Given the description of an element on the screen output the (x, y) to click on. 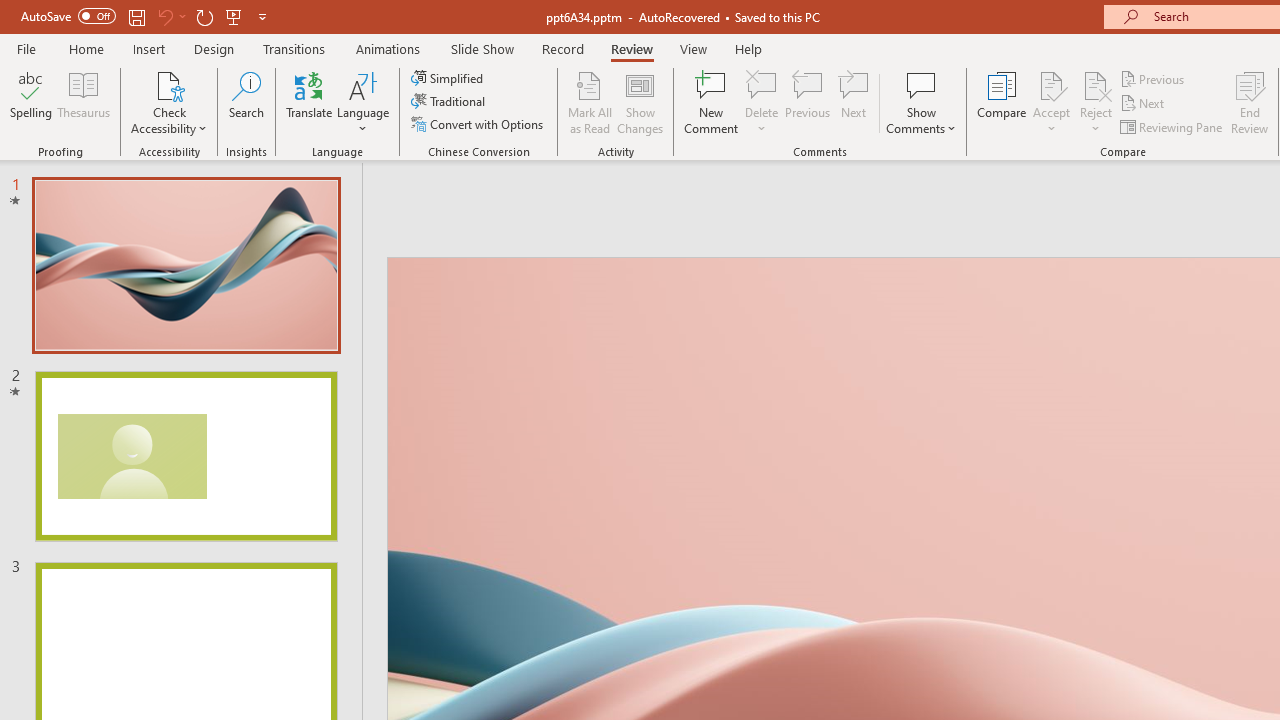
Reject (1096, 102)
Compare (1002, 102)
Next (1144, 103)
Traditional (449, 101)
Language (363, 102)
Reviewing Pane (1172, 126)
